Given the description of an element on the screen output the (x, y) to click on. 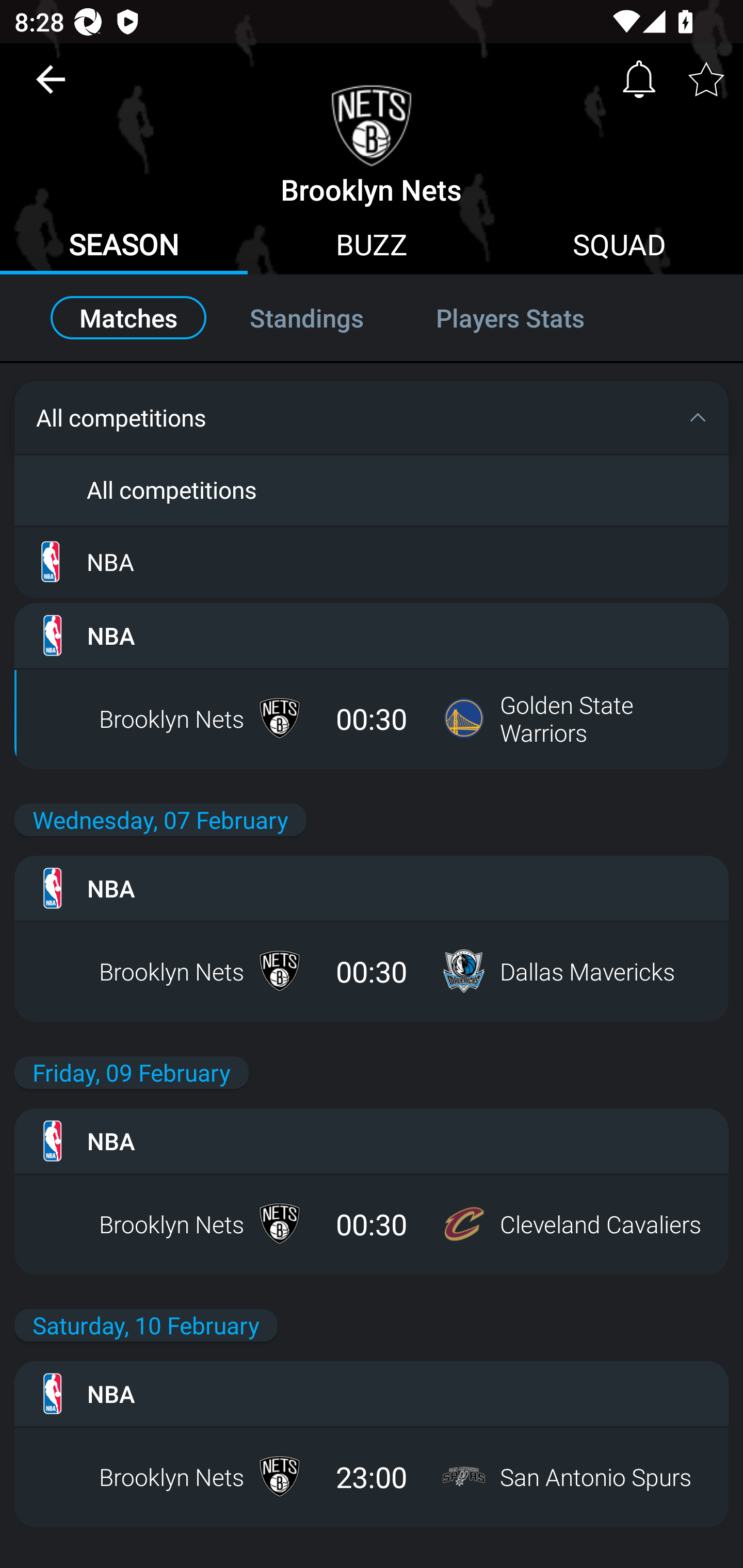
All competitions (371, 489)
NBA (371, 561)
